Given the description of an element on the screen output the (x, y) to click on. 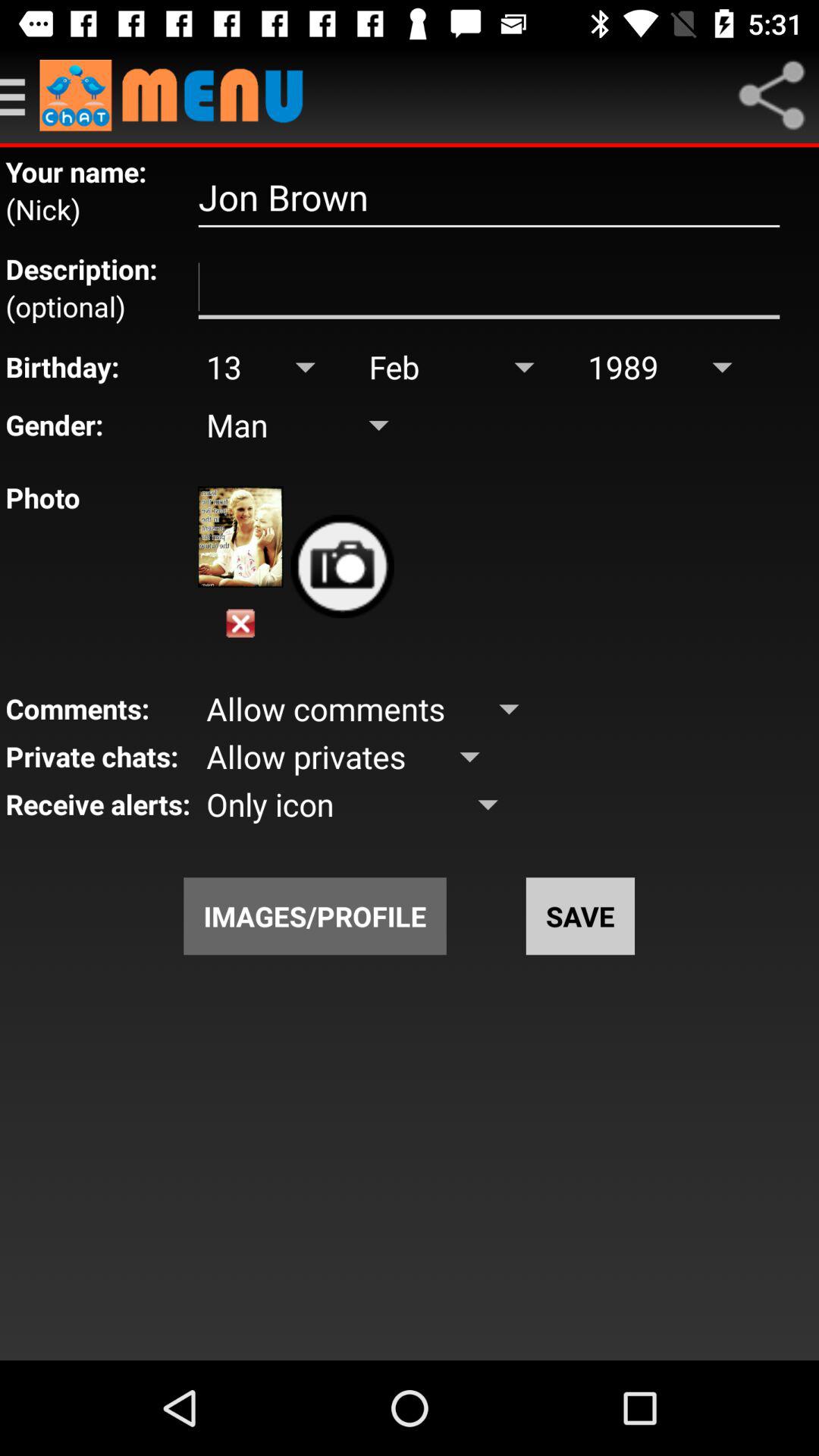
share button (771, 95)
